Given the description of an element on the screen output the (x, y) to click on. 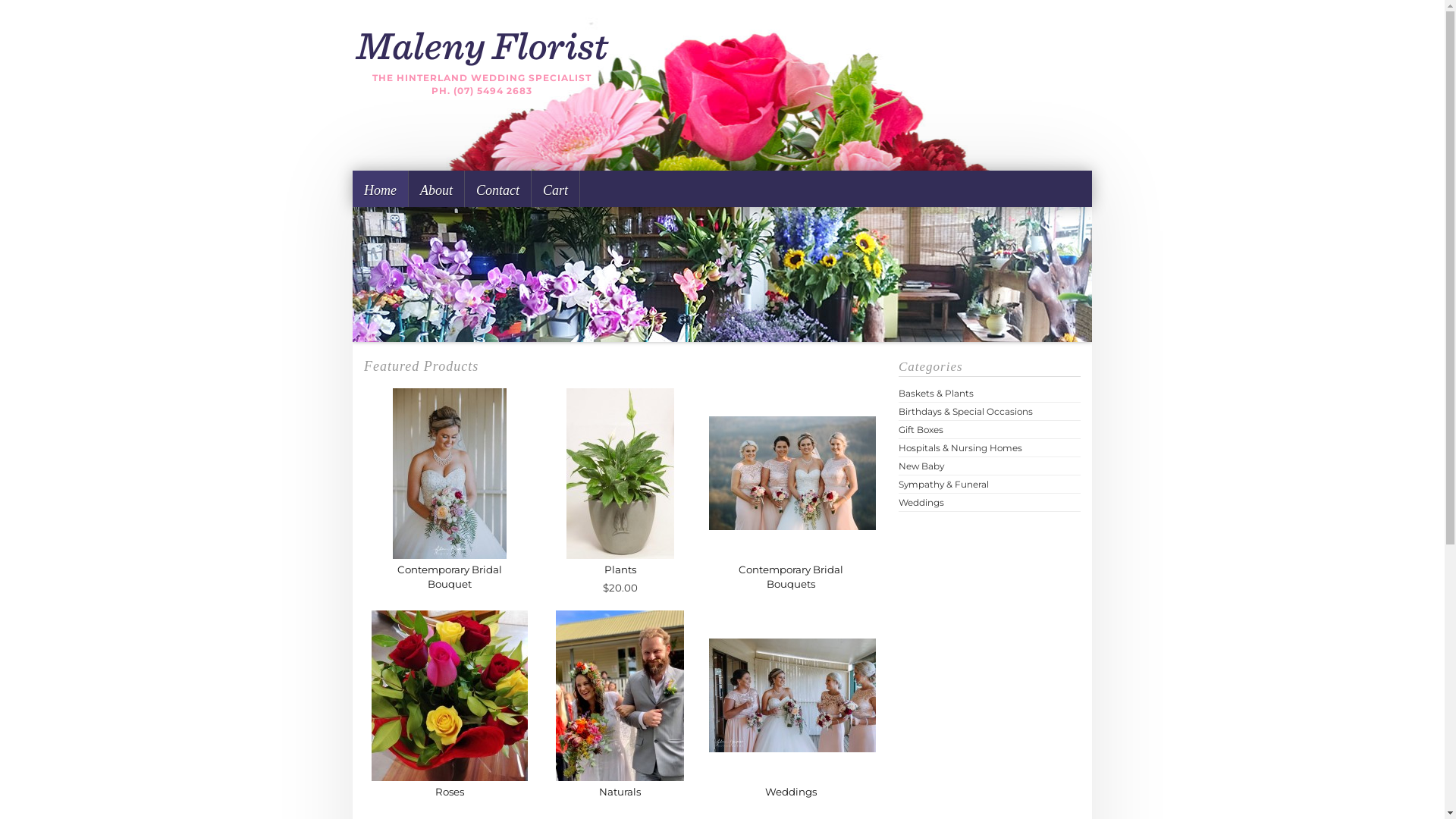
Contemporary Bridal Bouquets Element type: text (790, 576)
Gift Boxes Element type: text (920, 429)
Roses Element type: text (449, 791)
Sympathy & Funeral Element type: text (943, 483)
Weddings Element type: text (921, 502)
Hospitals & Nursing Homes Element type: text (960, 447)
About Element type: text (436, 188)
Cart Element type: text (555, 188)
Naturals Element type: text (619, 791)
Birthdays & Special Occasions Element type: text (965, 411)
Home Element type: text (380, 188)
Contemporary Bridal Bouquet Element type: text (449, 576)
Weddings Element type: text (789, 791)
New Baby Element type: text (921, 465)
Contact Element type: text (497, 188)
Baskets & Plants Element type: text (935, 392)
Plants Element type: text (619, 569)
